Given the description of an element on the screen output the (x, y) to click on. 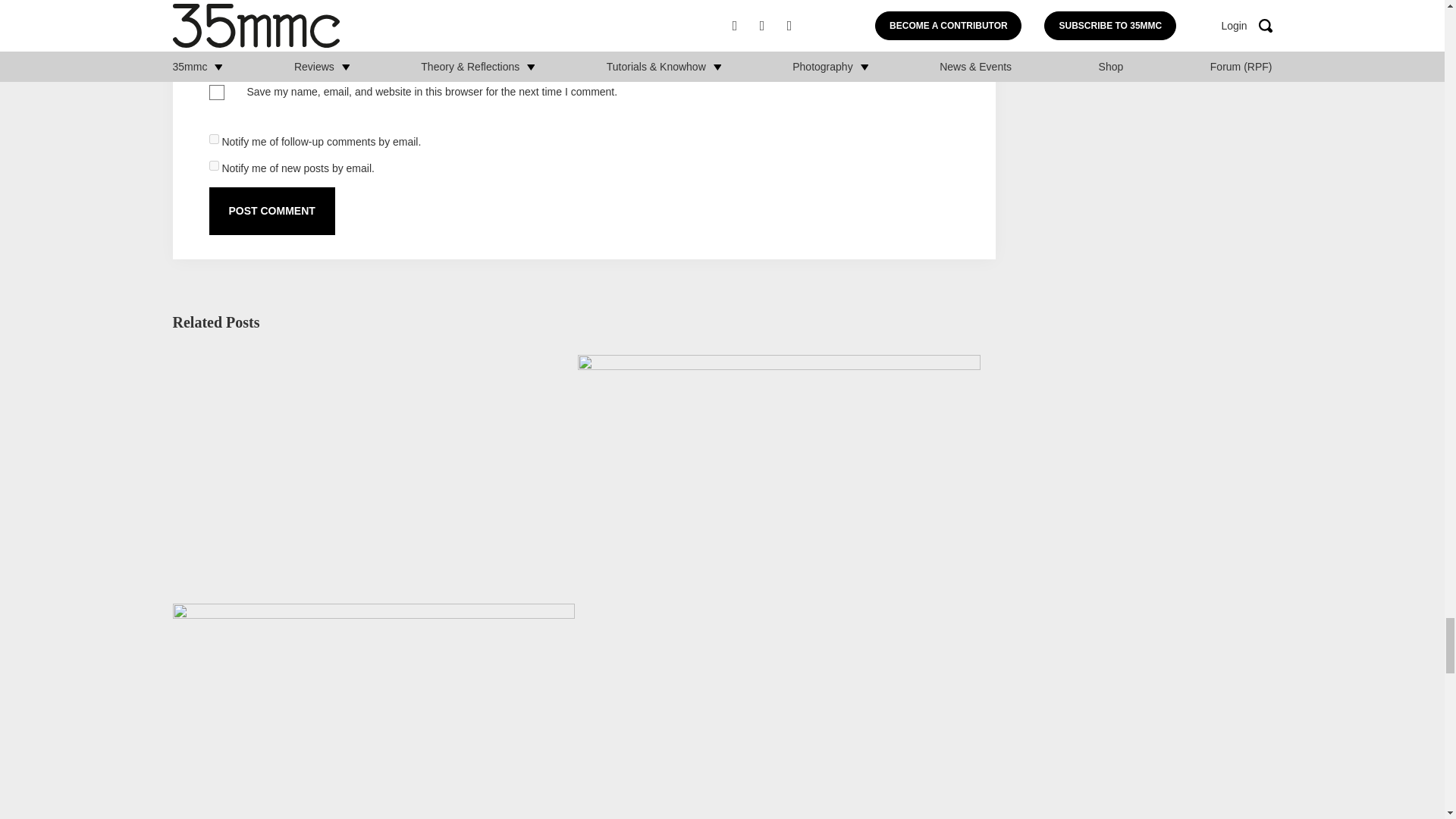
Post Comment (271, 211)
subscribe (214, 139)
subscribe (214, 165)
yes (216, 92)
